Given the description of an element on the screen output the (x, y) to click on. 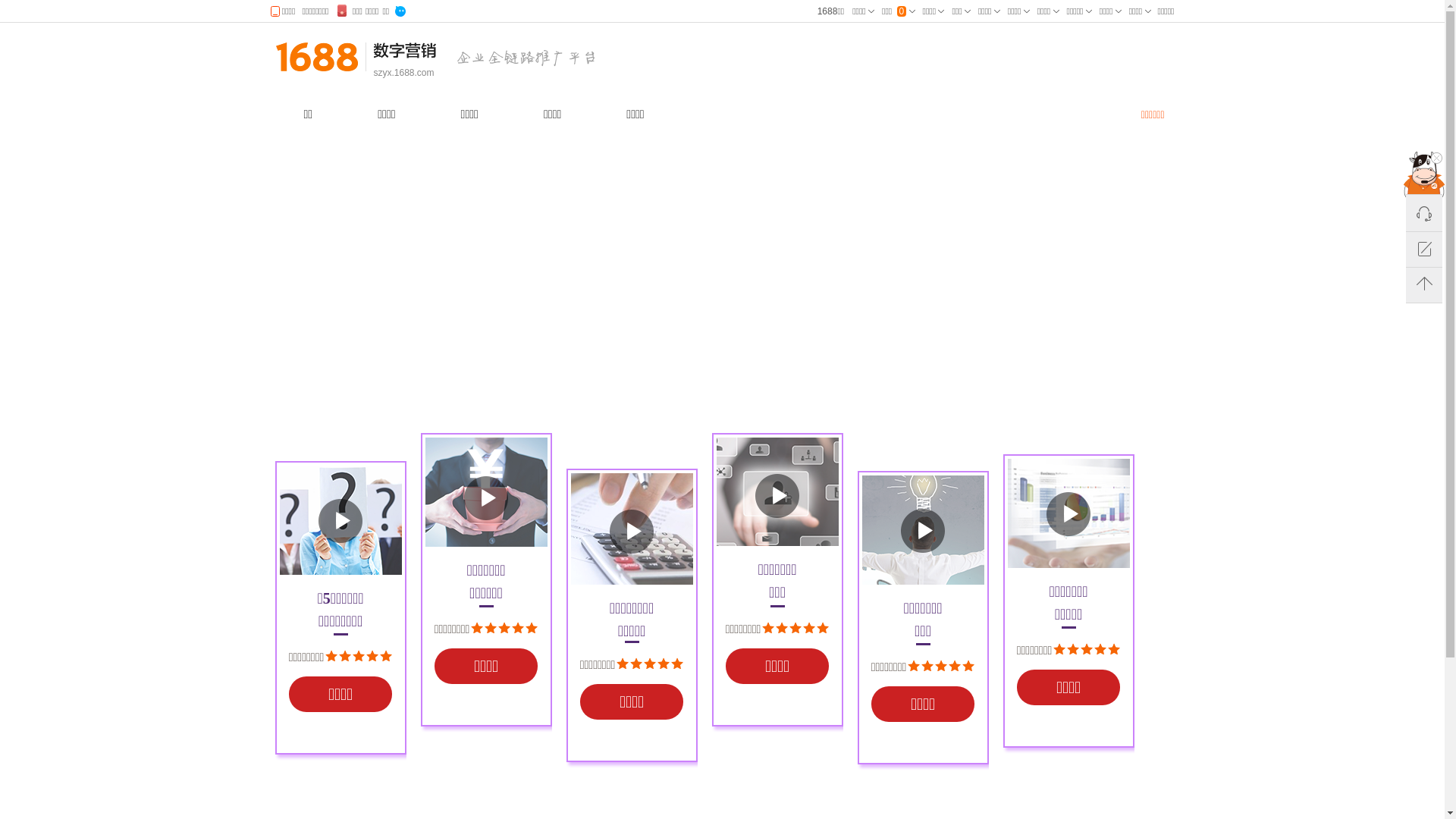
szyx.1688.com Element type: text (403, 72)
